Given the description of an element on the screen output the (x, y) to click on. 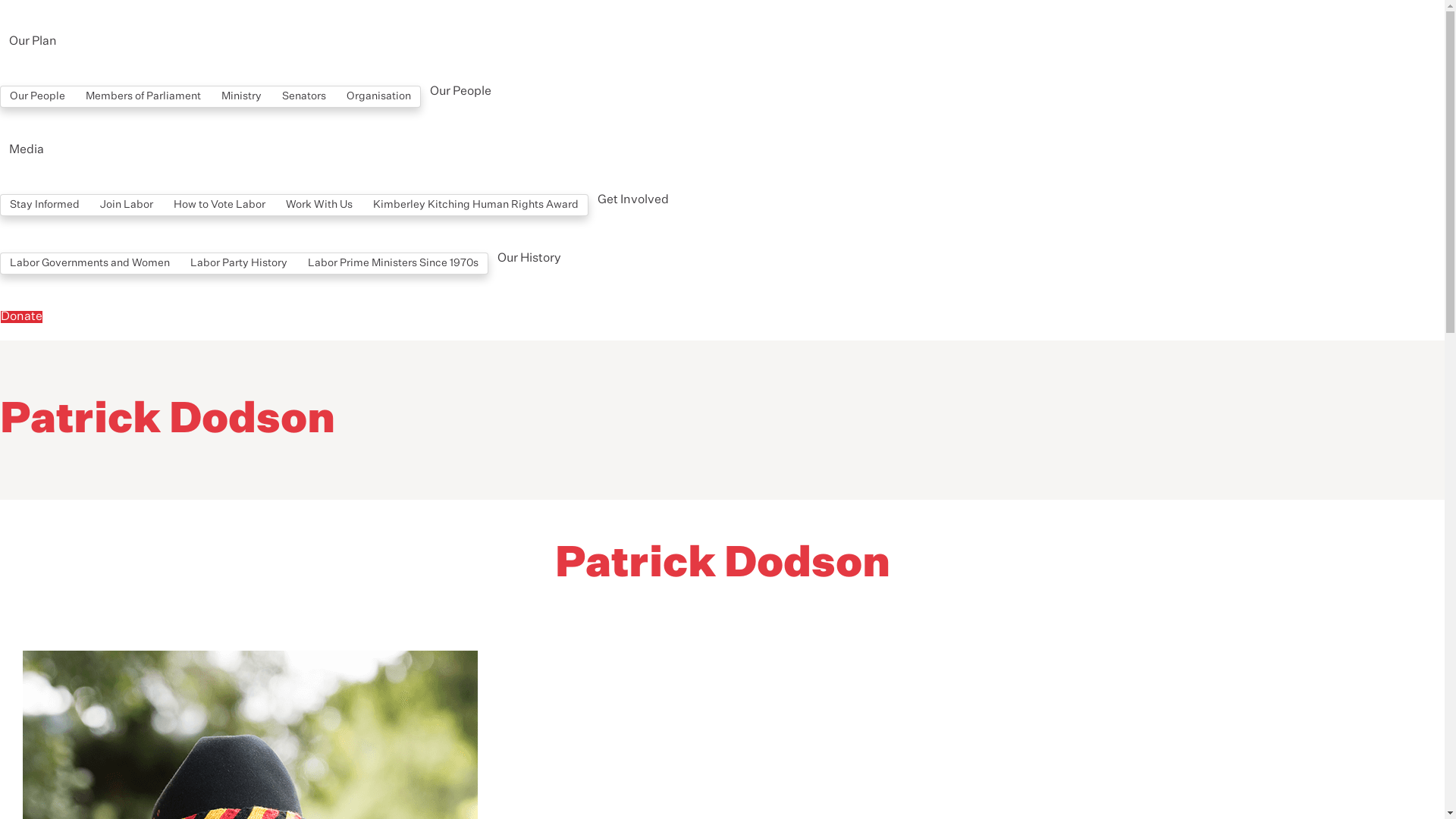
Labor Governments and Women Element type: text (89, 263)
Media Element type: text (26, 149)
Members of Parliament Element type: text (143, 96)
Our People Element type: text (460, 91)
Ministry Element type: text (241, 96)
Labor Prime Ministers Since 1970s Element type: text (392, 263)
Senators Element type: text (304, 96)
Labor Party History Element type: text (238, 263)
Donate Element type: text (21, 316)
Kimberley Kitching Human Rights Award Element type: text (475, 204)
Stay Informed Element type: text (44, 204)
Join Labor Element type: text (126, 204)
How to Vote Labor Element type: text (219, 204)
Our People Element type: text (37, 96)
Our History Element type: text (529, 258)
Our Plan Element type: text (32, 41)
Organisation Element type: text (378, 96)
Work With Us Element type: text (318, 204)
Get Involved Element type: text (632, 199)
